Given the description of an element on the screen output the (x, y) to click on. 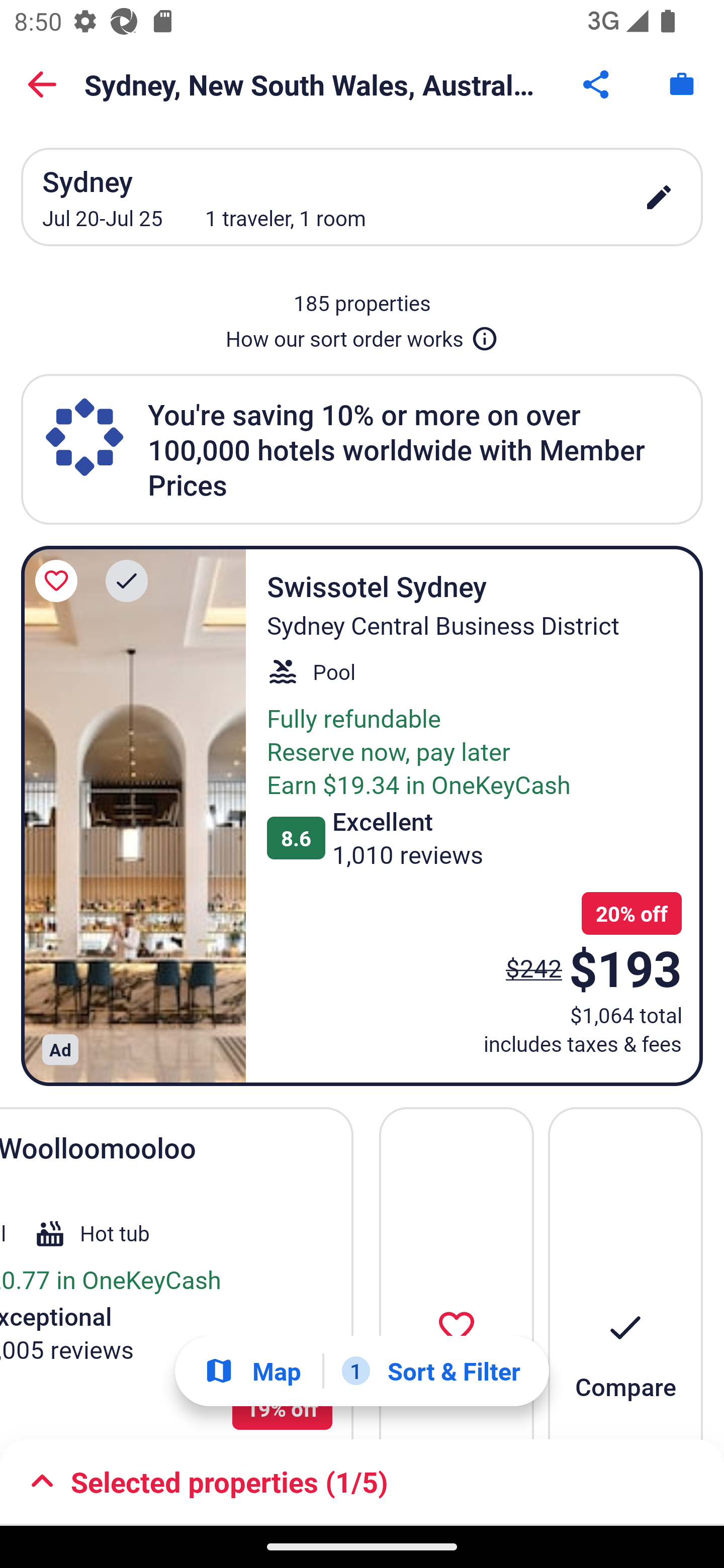
Back (42, 84)
Share Button (597, 84)
Trips. Button (681, 84)
Sydney Jul 20-Jul 25 1 traveler, 1 room edit (361, 196)
How our sort order works (361, 334)
Save Swissotel Sydney to a trip (59, 580)
Swissotel Sydney (133, 815)
$242 The price was $242 (533, 967)
Save (456, 1273)
Compare (625, 1273)
1 Sort & Filter 1 Filter applied. Filters Button (430, 1370)
Show map Map Show map Button (252, 1370)
